Given the description of an element on the screen output the (x, y) to click on. 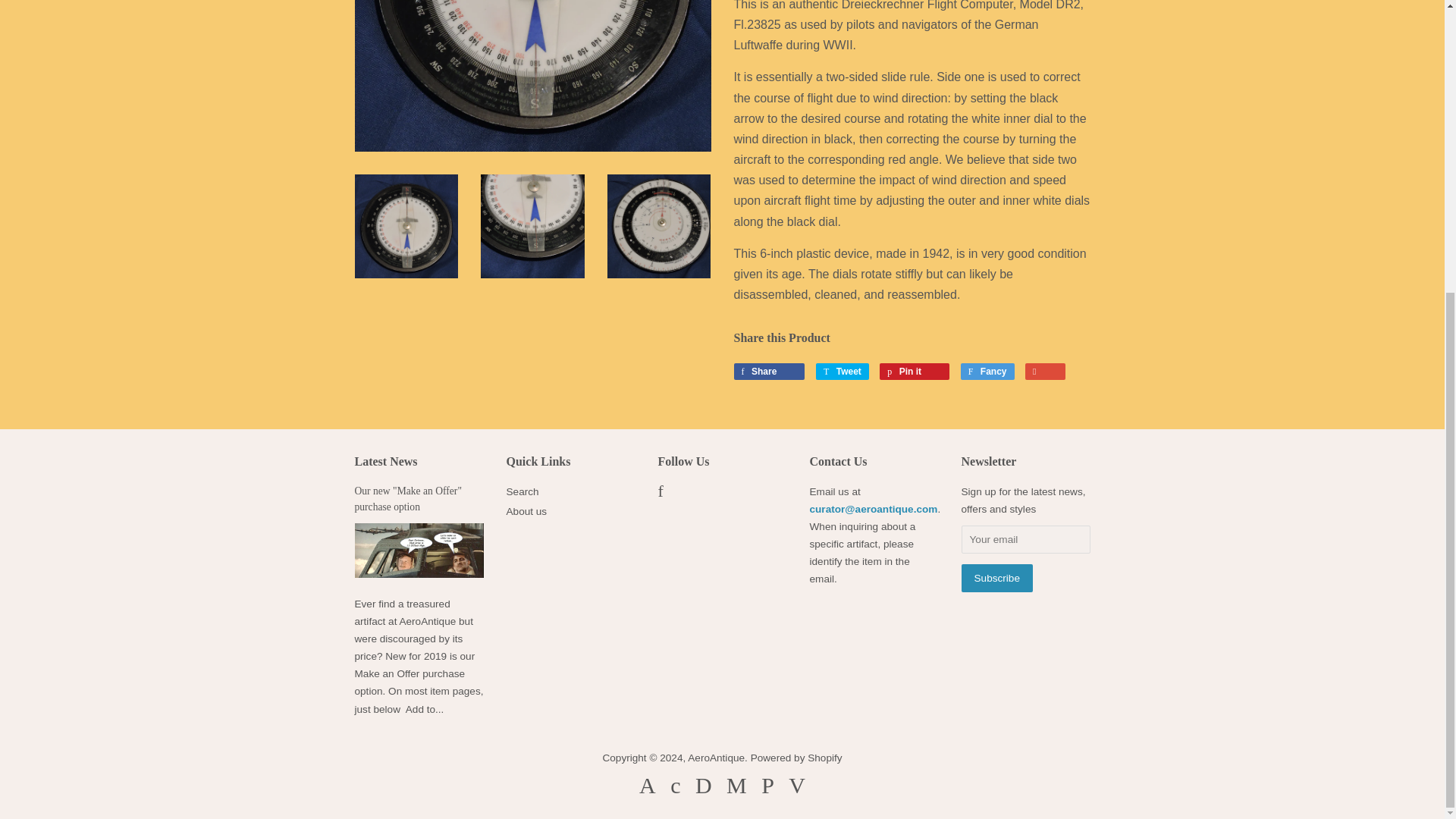
Subscribe (996, 578)
